Given the description of an element on the screen output the (x, y) to click on. 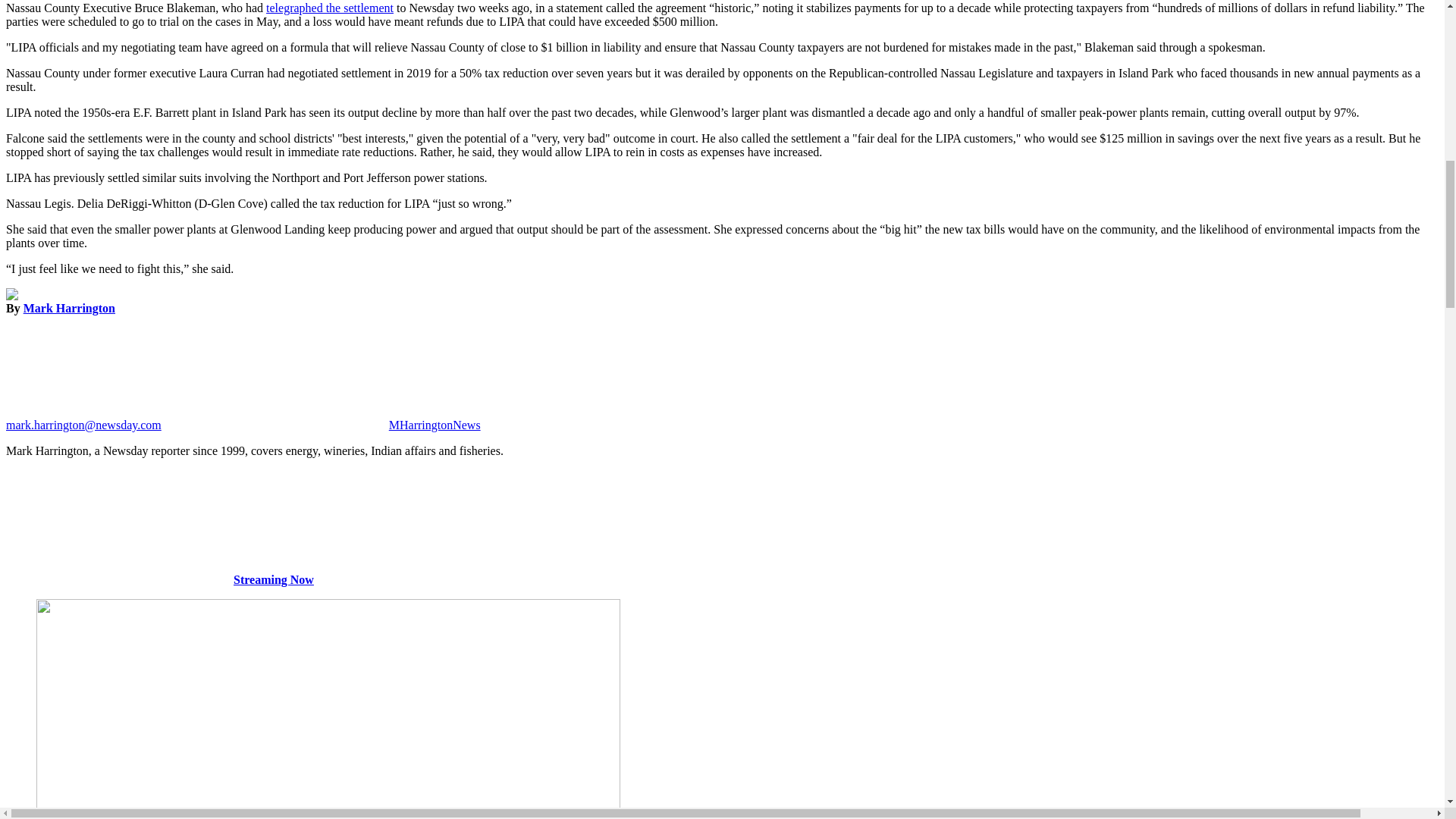
MHarringtonNews (320, 424)
newsday-tv-logoStreaming Now (159, 579)
Mark Harrington (69, 308)
telegraphed the settlement (329, 7)
newsday-tv-logo (118, 526)
